Given the description of an element on the screen output the (x, y) to click on. 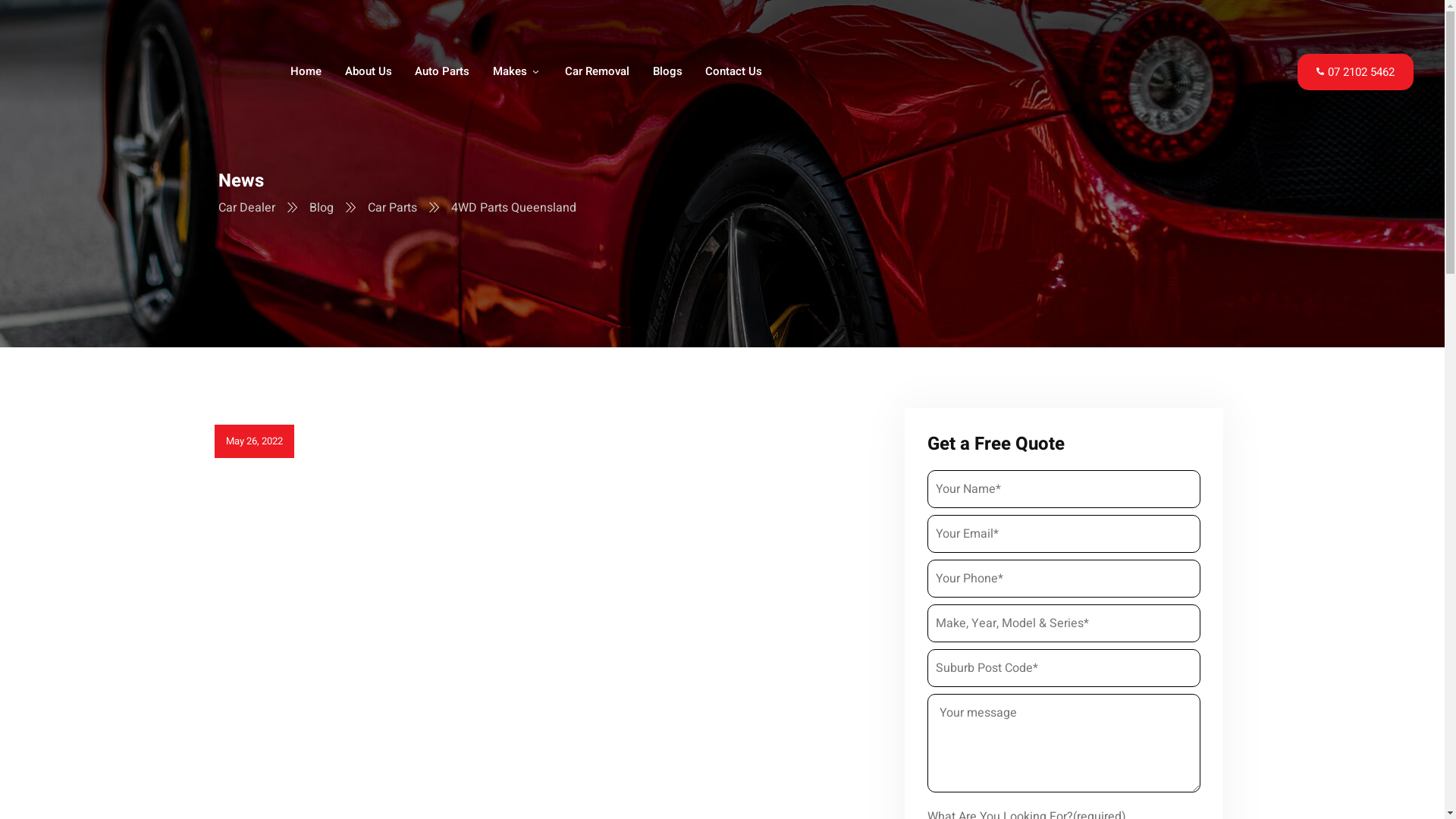
Contact Us Element type: text (734, 72)
07 2102 5462 Element type: text (1355, 71)
Home Element type: text (305, 72)
About Us Element type: text (368, 72)
Car Parts Element type: text (393, 207)
Car Removal Element type: text (596, 72)
Car Dealer Element type: text (248, 207)
May 26, 2022 Element type: text (253, 440)
4WD-Parts-Queensland Element type: hover (551, 609)
Blog Element type: text (322, 207)
Makes Element type: text (517, 72)
Blogs Element type: text (667, 72)
Auto Parts Element type: text (442, 72)
